Given the description of an element on the screen output the (x, y) to click on. 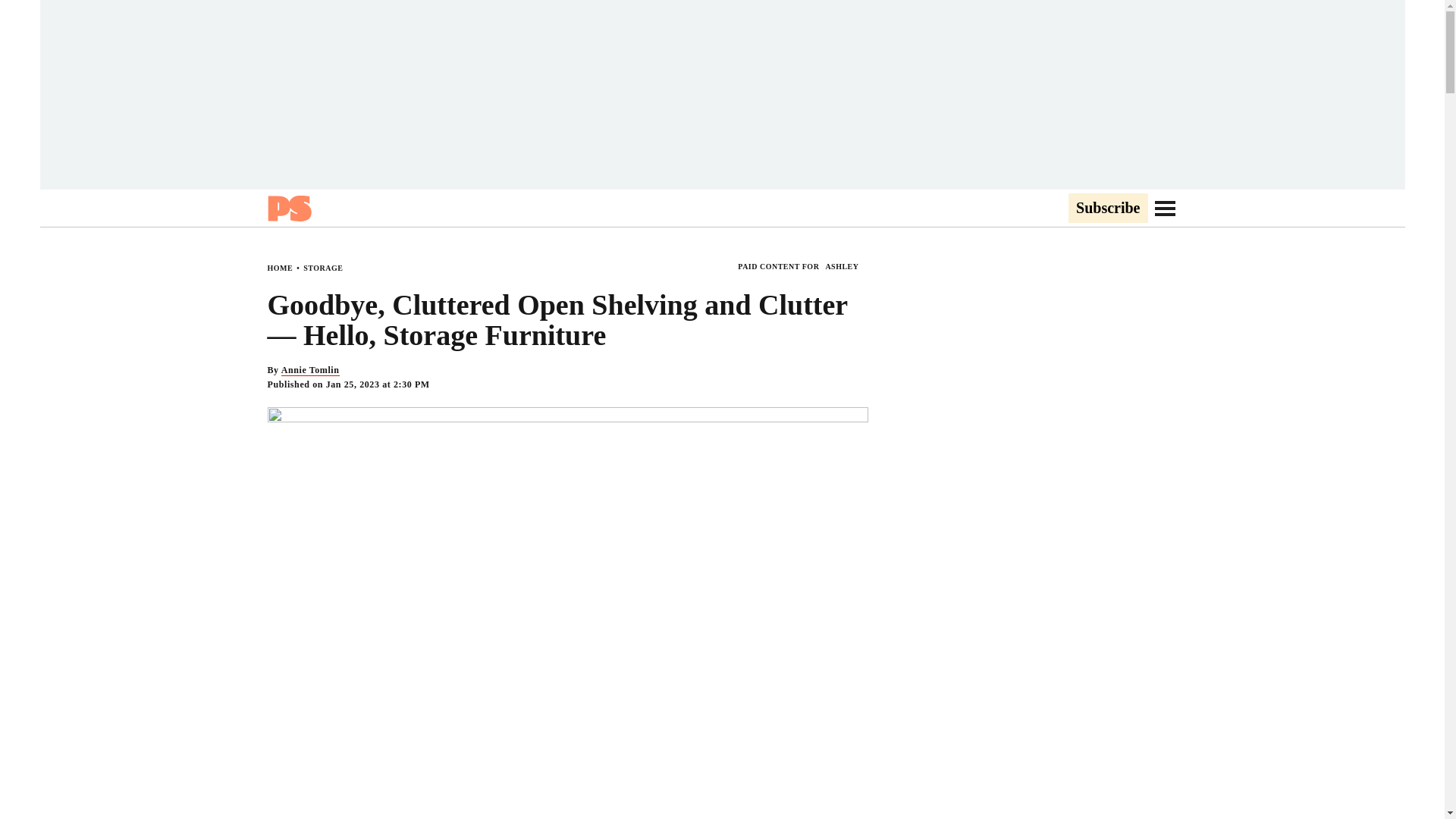
Annie Tomlin (310, 369)
STORAGE (322, 267)
HOME (279, 267)
Popsugar (288, 208)
Subscribe (1107, 208)
Go to Navigation (1164, 207)
Go to Navigation (1164, 207)
